Given the description of an element on the screen output the (x, y) to click on. 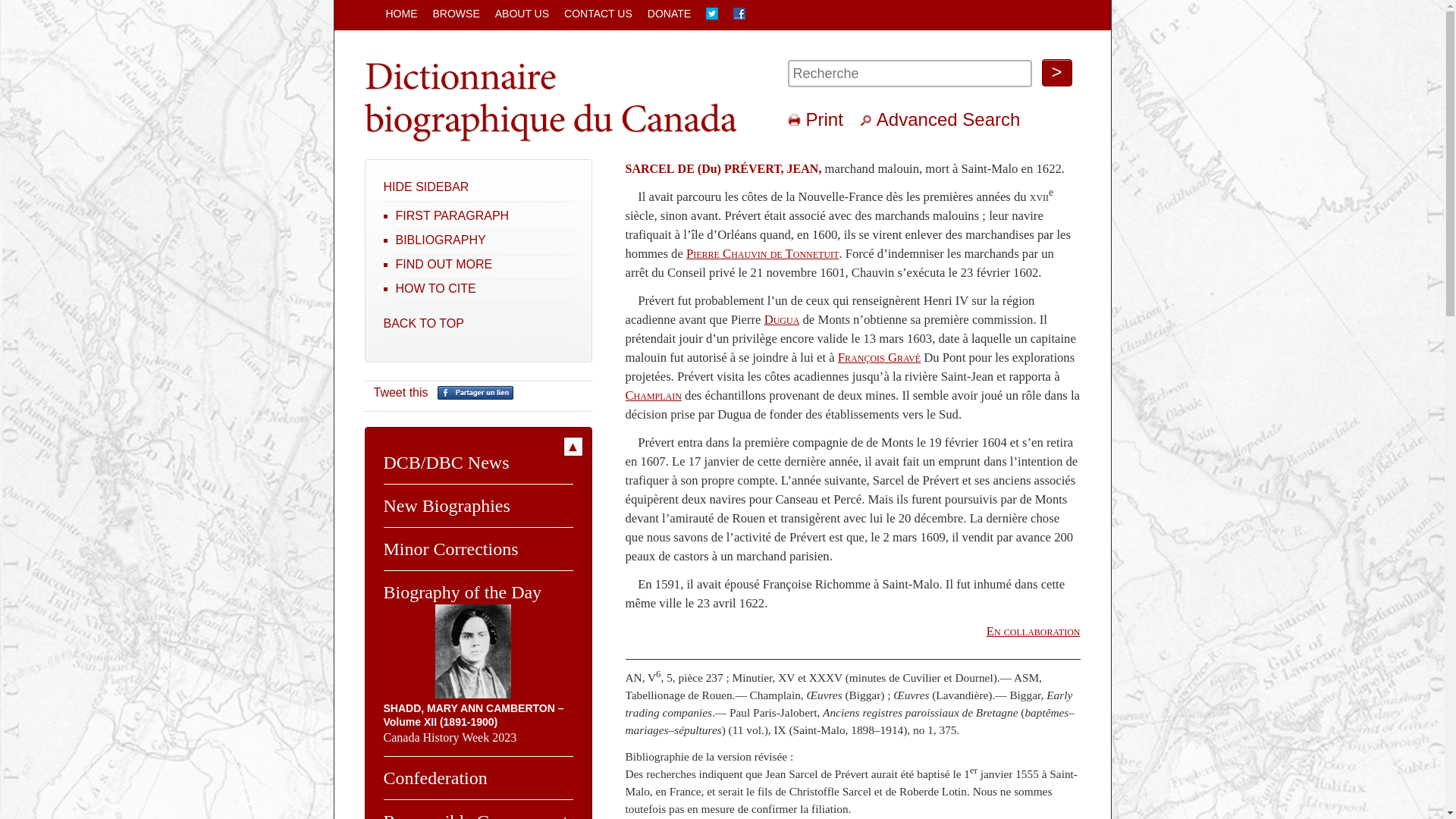
Pierre Chauvin de Tonnetuit Element type: text (762, 253)
Use options such as Boolean operators and limiters Element type: hover (867, 119)
Champlain Element type: text (652, 395)
HOME Element type: text (401, 13)
Advanced Search Element type: text (947, 119)
BACK TO TOP Element type: text (423, 322)
FIND OUT MORE Element type: text (443, 263)
BROWSE Element type: text (455, 13)
Minor Corrections Element type: text (450, 548)
CONTACT US Element type: text (598, 13)
Follow us on Facebook Element type: hover (739, 14)
Printer-friendly Element type: hover (796, 119)
DCB/DBC News Element type: text (446, 462)
Tweet this Element type: text (400, 391)
New Biographies Element type: text (446, 505)
En collaboration Element type: text (1033, 631)
Share page on Facebook Element type: hover (475, 395)
Use options such as Boolean operators and limiters Element type: hover (867, 119)
Follow us on Twitter Element type: hover (712, 14)
Printer-friendly Element type: hover (796, 119)
HOW TO CITE Element type: text (435, 288)
DONATE Element type: text (668, 13)
FIRST PARAGRAPH Element type: text (452, 215)
Print Element type: text (823, 119)
Biography of the Day Element type: text (462, 592)
BIBLIOGRAPHY Element type: text (440, 239)
ABOUT US Element type: text (522, 13)
Dugua Element type: text (782, 319)
HIDE SIDEBAR Element type: text (426, 186)
Confederation Element type: text (435, 777)
